Given the description of an element on the screen output the (x, y) to click on. 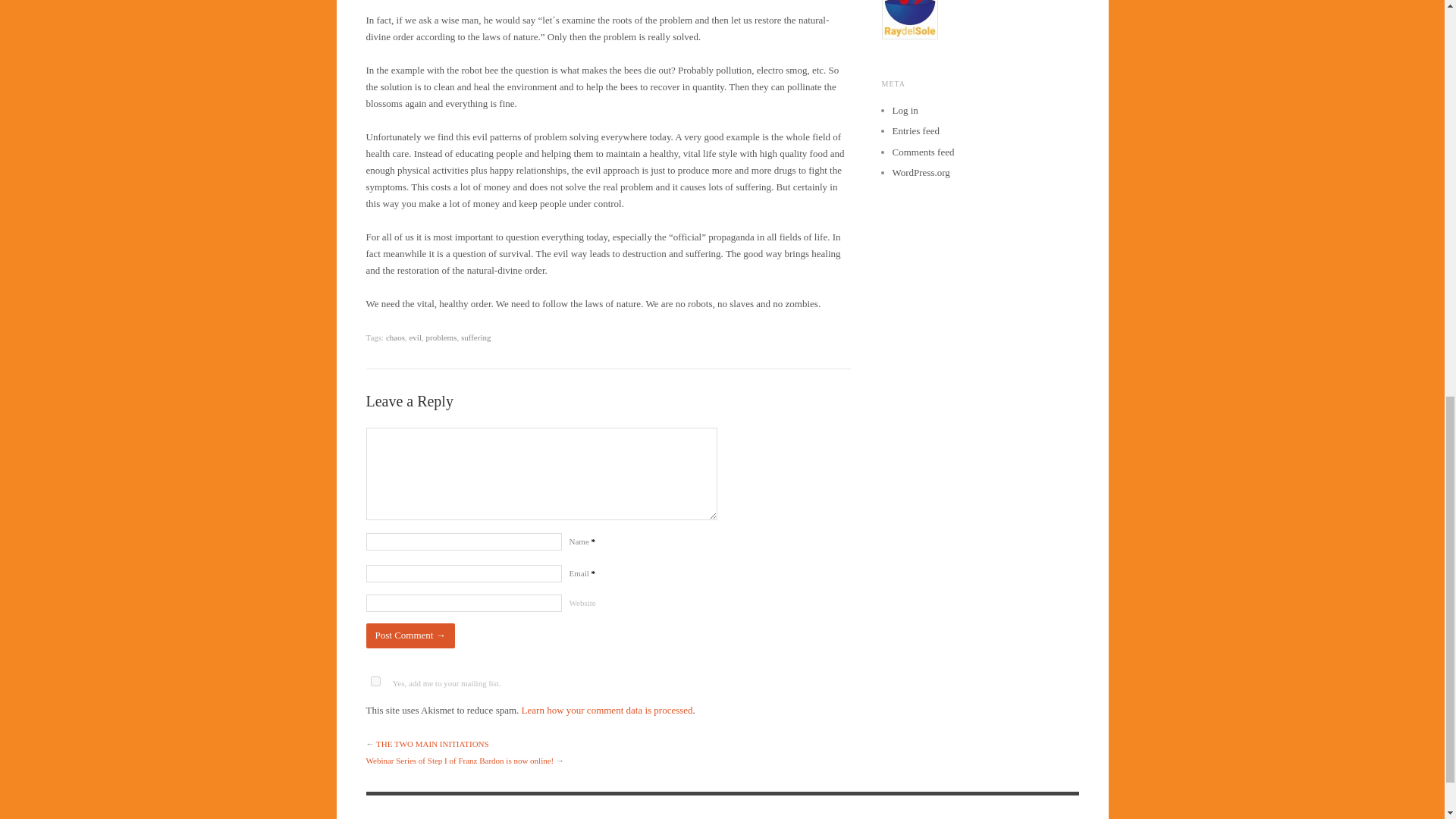
Comments feed (922, 152)
Learn how your comment data is processed (607, 709)
THE TWO MAIN INITIATIONS (432, 743)
suffering (476, 337)
evil (415, 337)
1 (374, 681)
chaos (394, 337)
WordPress.org (920, 172)
Webinar Series of Step I of Franz Bardon is now online! (459, 759)
problems (441, 337)
Log in (904, 110)
Entries feed (915, 130)
